Given the description of an element on the screen output the (x, y) to click on. 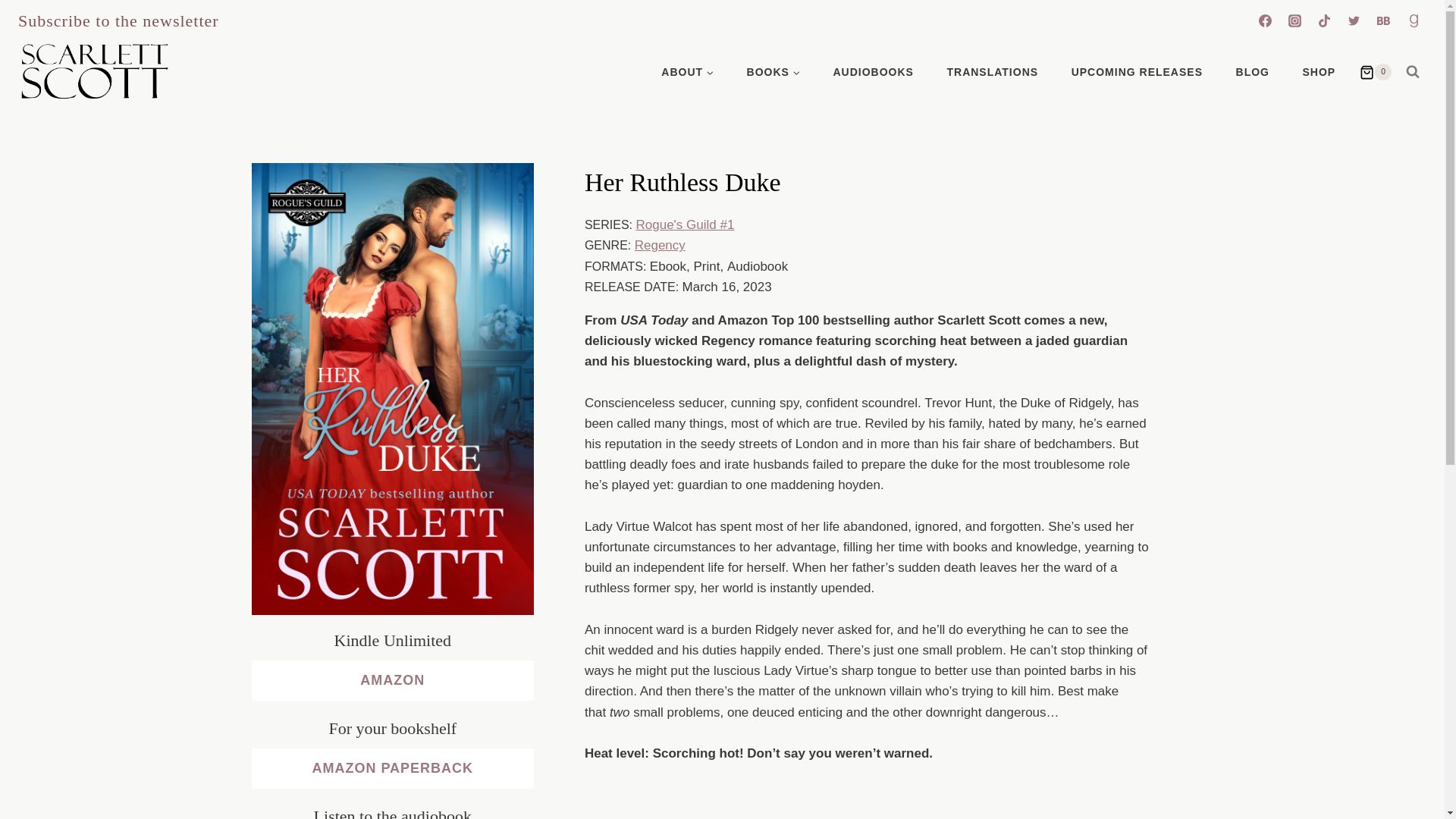
SHOP (1318, 71)
Subscribe to the newsletter (118, 20)
0 (1375, 71)
AMAZON PAPERBACK (392, 768)
BOOKS (773, 71)
TRANSLATIONS (992, 71)
BLOG (1252, 71)
ABOUT (687, 71)
AUDIOBOOKS (873, 71)
AMAZON (392, 680)
